Given the description of an element on the screen output the (x, y) to click on. 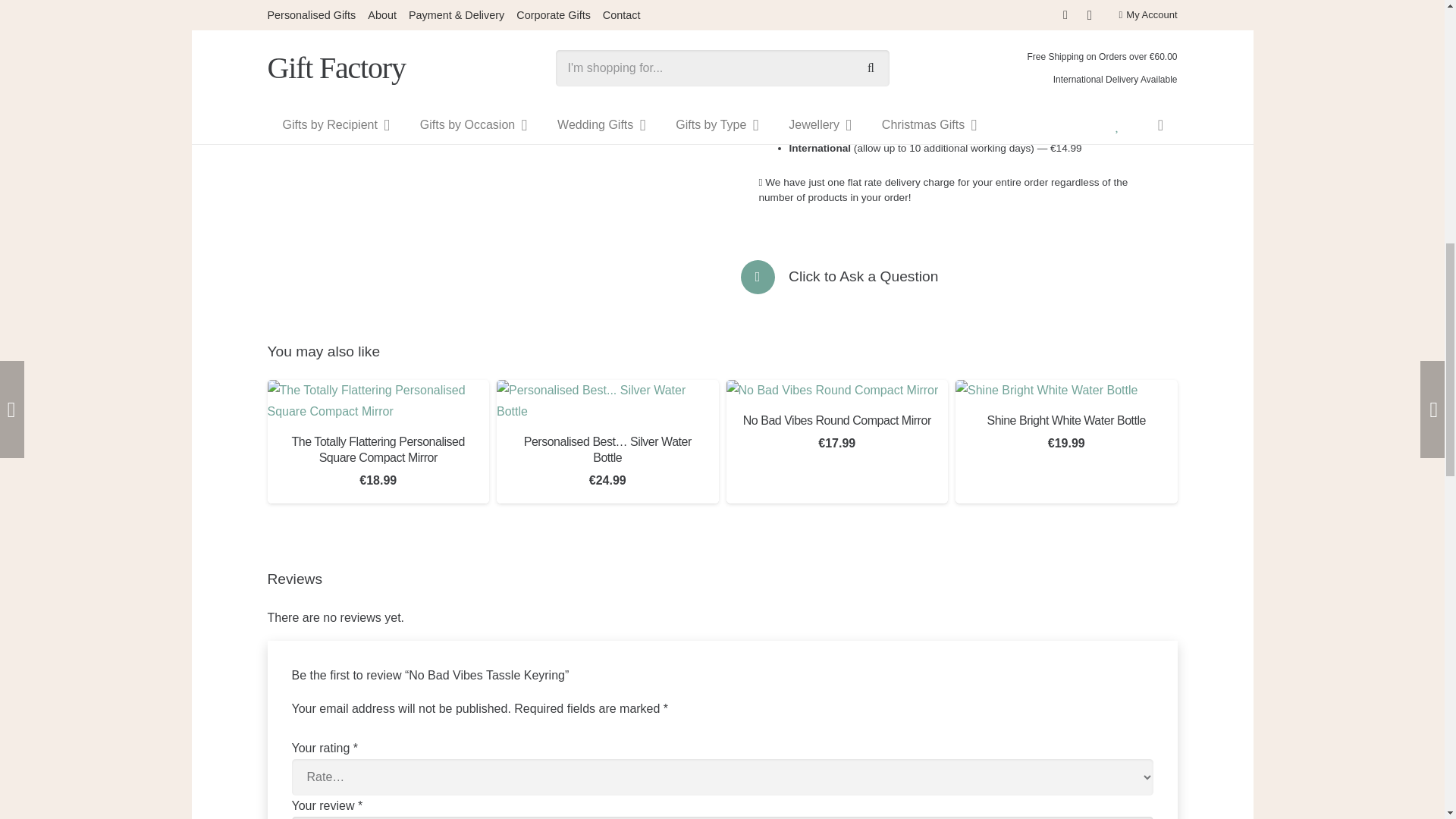
Contact (764, 277)
No Bad Vibes Round Compact Mirror (832, 390)
The Totally Flattering Personalised Square Compact Mirror (377, 401)
Shine Bright White Water Bottle (1046, 390)
Contact (863, 276)
